Given the description of an element on the screen output the (x, y) to click on. 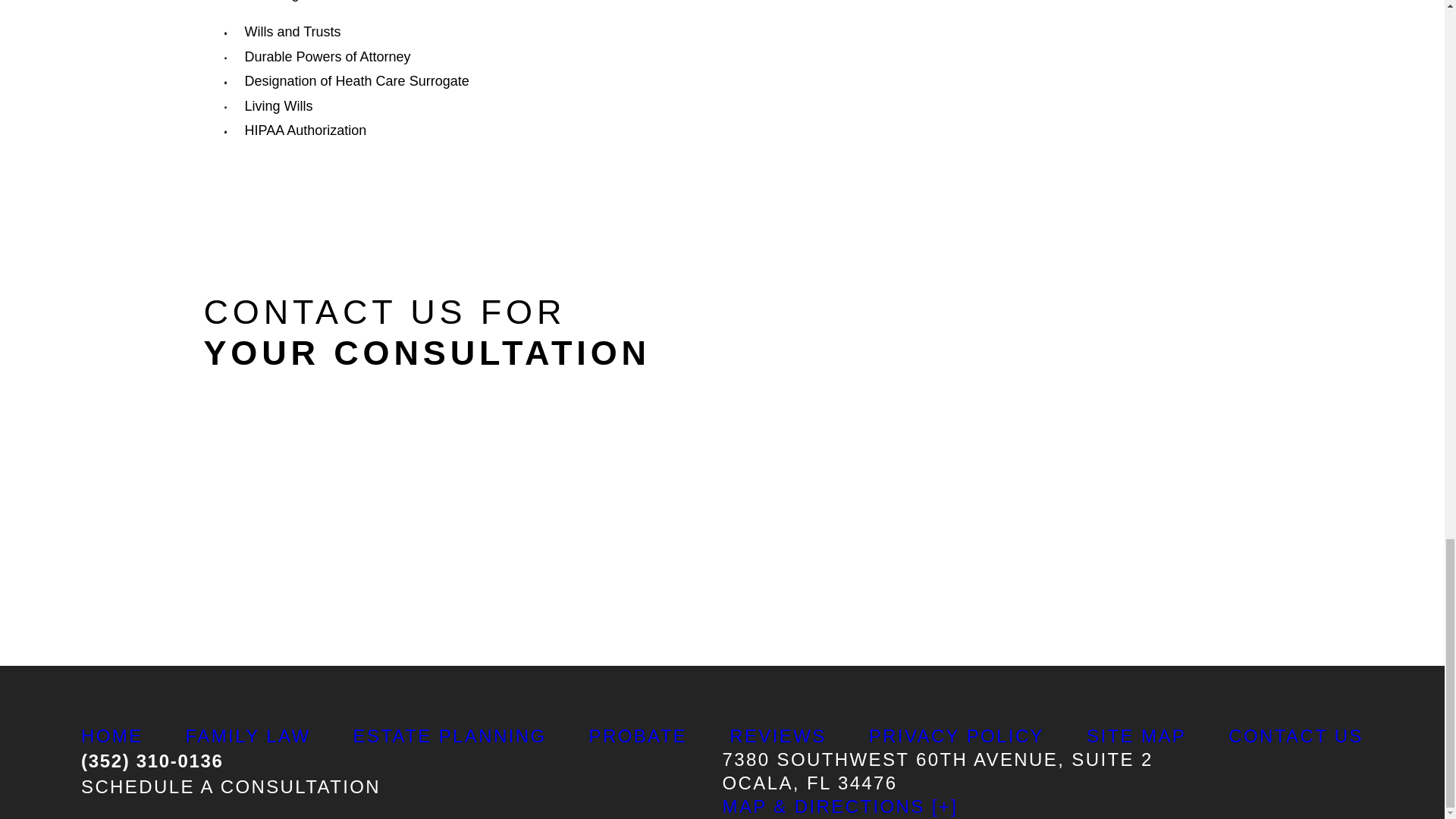
ESTATE PLANNING (450, 735)
FAMILY LAW (248, 735)
HOME (111, 735)
